Given the description of an element on the screen output the (x, y) to click on. 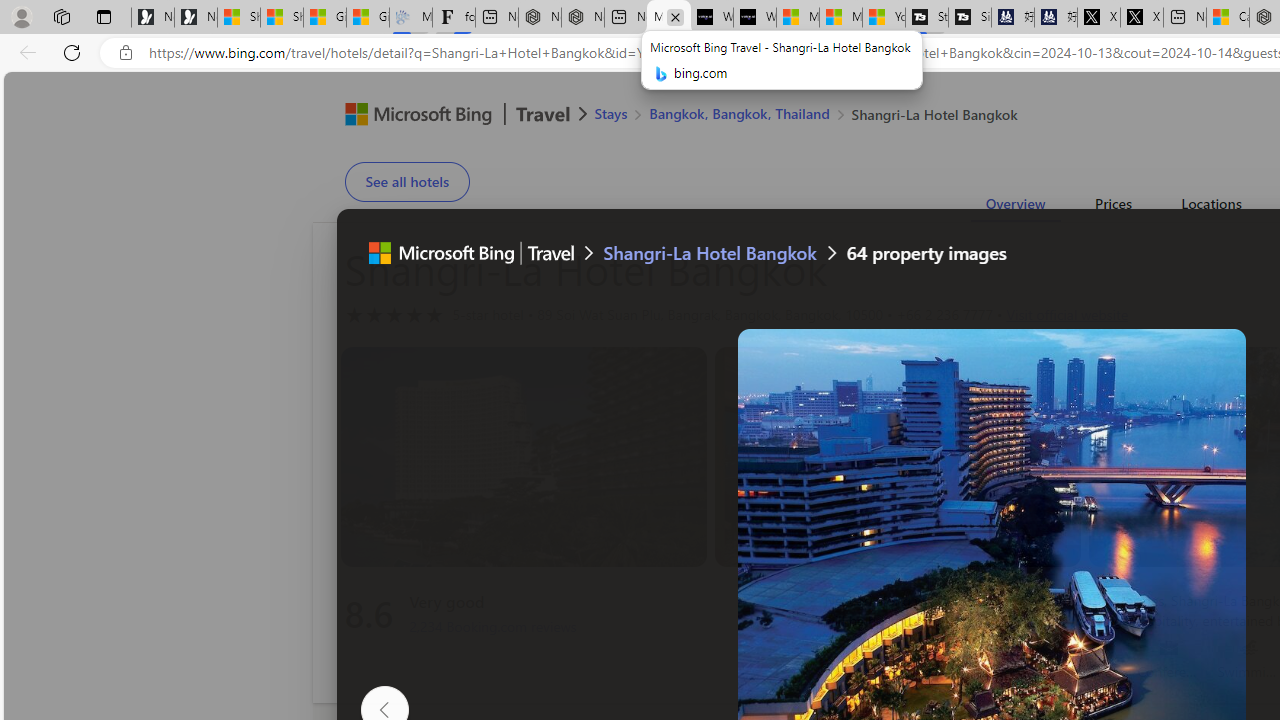
Microsoft Bing Travel - Shangri-La Hotel Bangkok (668, 17)
